Given the description of an element on the screen output the (x, y) to click on. 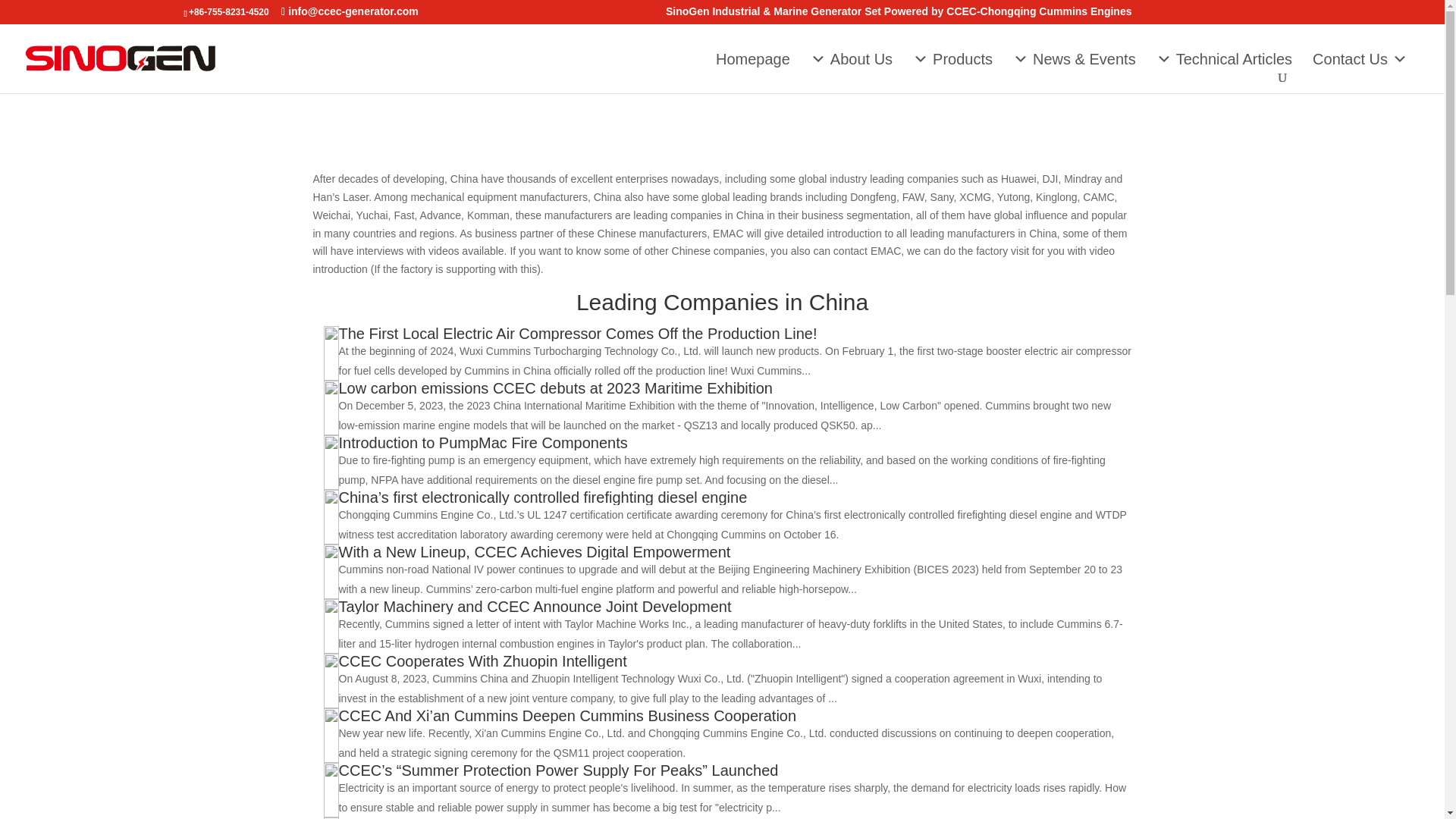
Homepage (752, 58)
Products (952, 58)
About Us (851, 58)
